Given the description of an element on the screen output the (x, y) to click on. 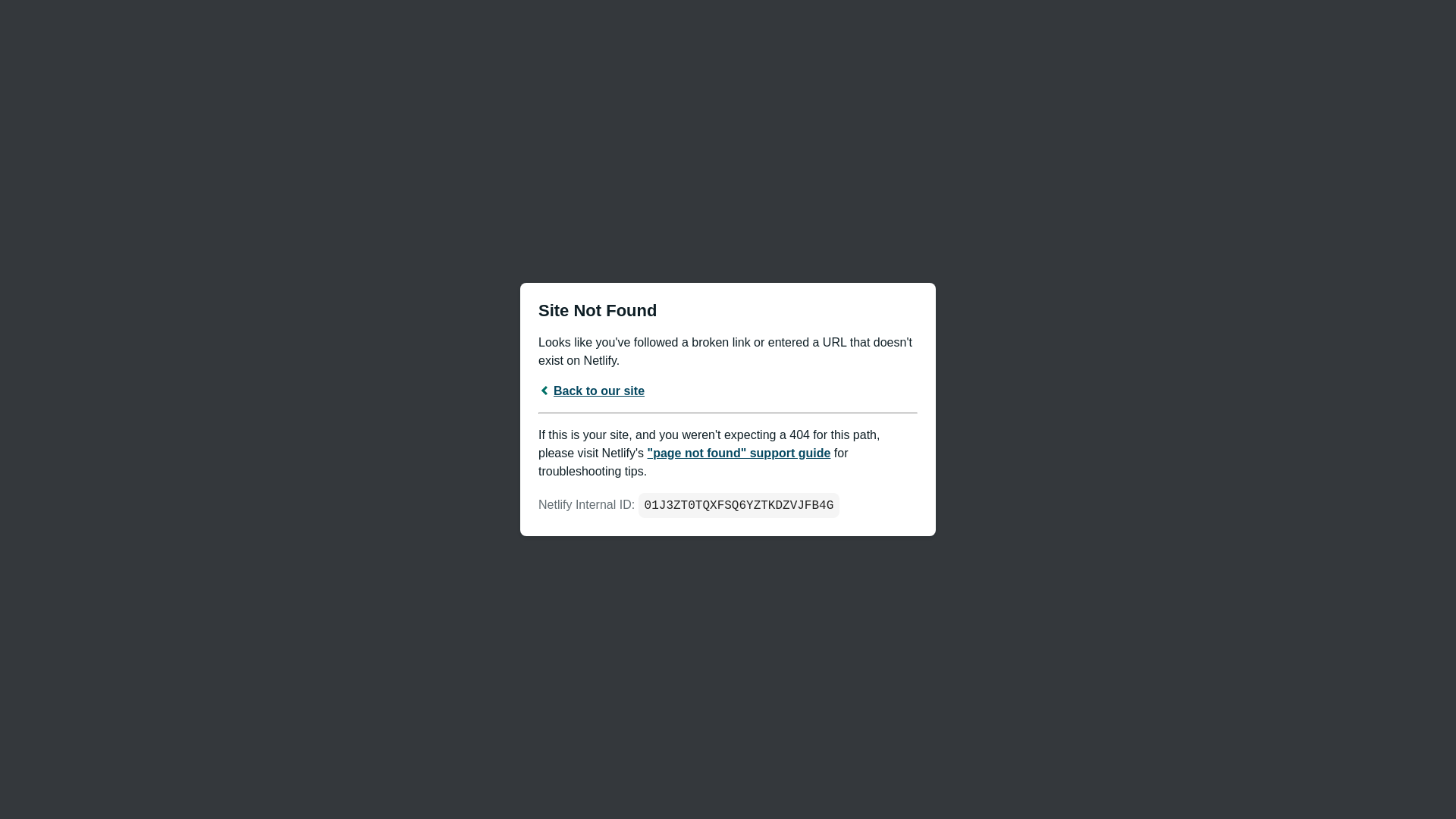
"page not found" support guide (739, 452)
Back to our site (591, 390)
